Given the description of an element on the screen output the (x, y) to click on. 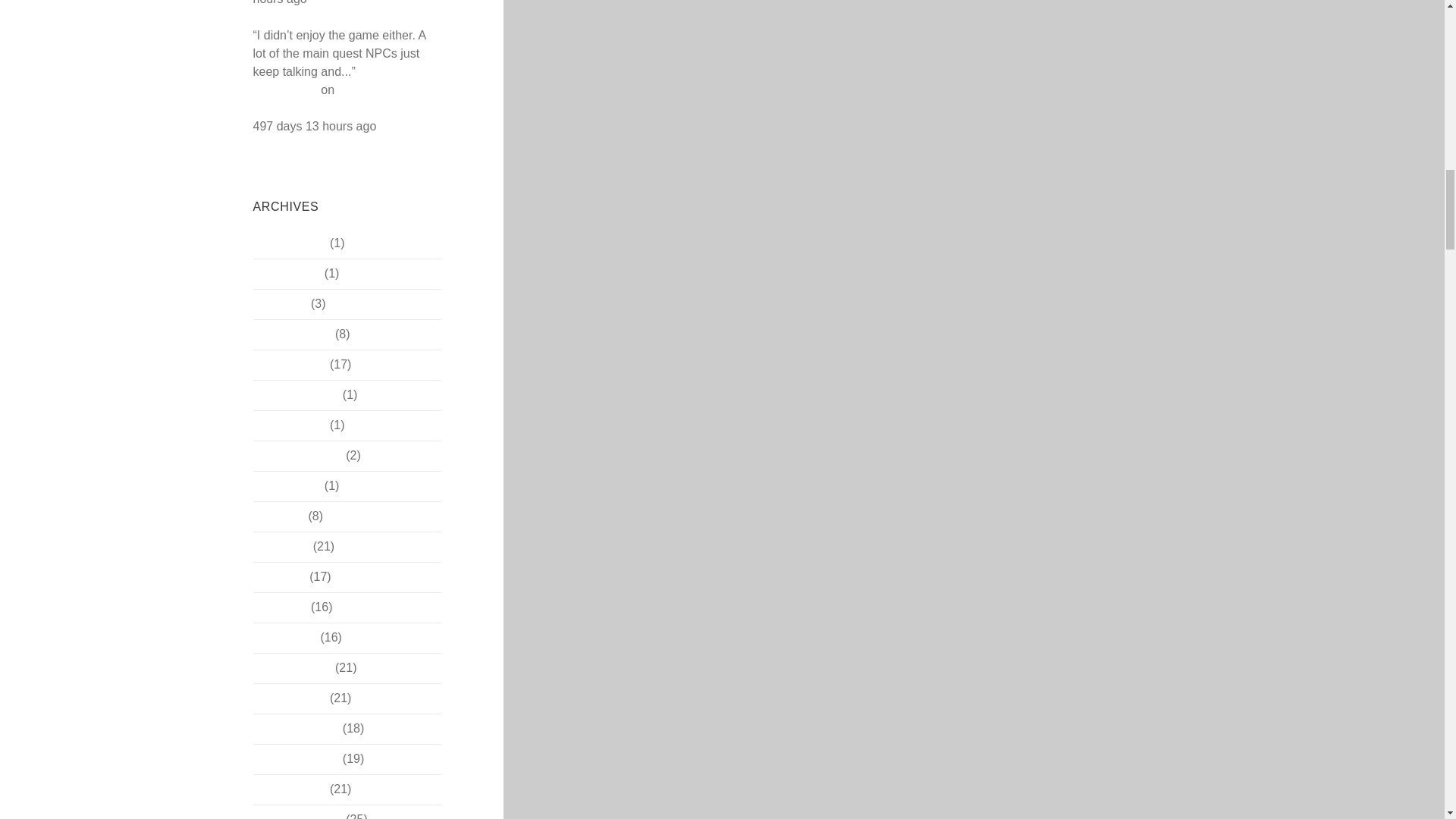
September 2014 (297, 454)
November 2015 (296, 394)
October 2014 (289, 424)
February 2016 (292, 333)
July 2014 (279, 515)
May 2014 (279, 576)
April 2014 (280, 606)
April 2016 (280, 303)
August 2014 (287, 485)
February 2014 (292, 667)
January 2016 (289, 364)
Shane Steinhauser (323, 80)
January 2018 (289, 242)
August 2016 (287, 273)
